Given the description of an element on the screen output the (x, y) to click on. 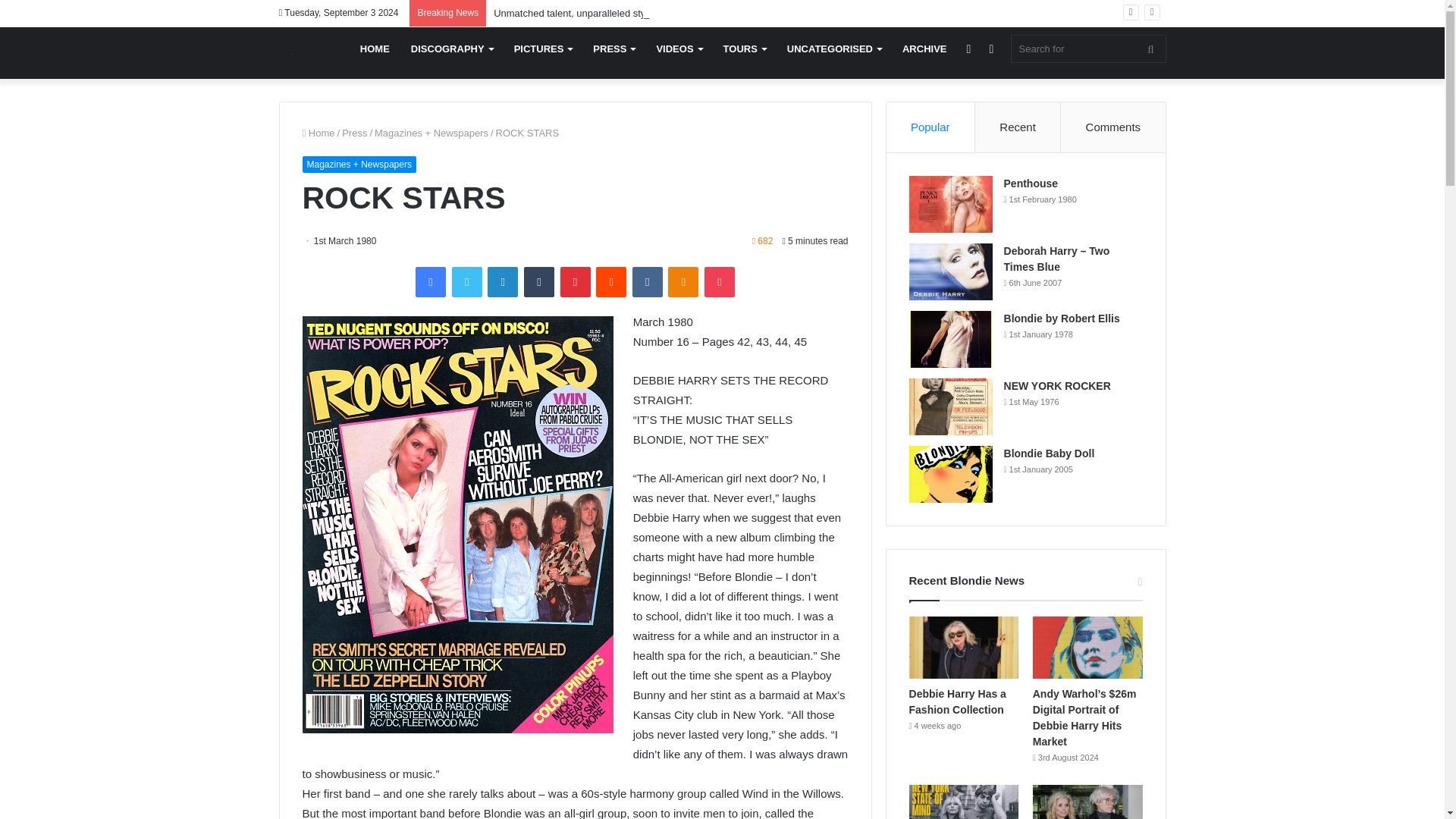
HOME (374, 48)
DISCOGRAPHY (451, 48)
PRESS (613, 48)
Pinterest (574, 281)
TOURS (744, 48)
The Best Of Blondie (285, 52)
LinkedIn (502, 281)
VKontakte (646, 281)
VIDEOS (678, 48)
Search for (1088, 49)
